Given the description of an element on the screen output the (x, y) to click on. 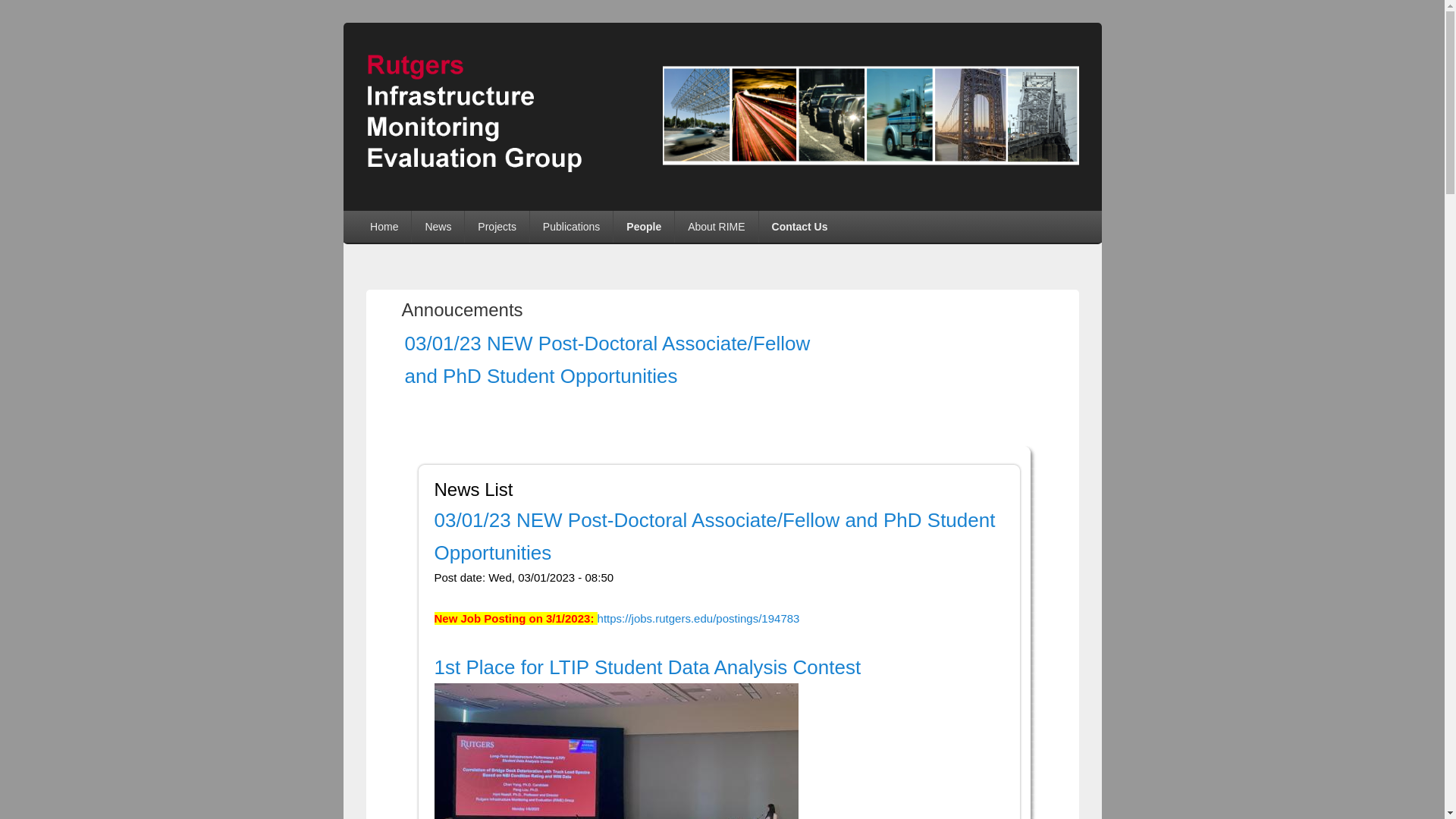
Main page (383, 226)
1st Place for LTIP Student Data Analysis Contest (646, 667)
Projects (496, 226)
Home (721, 172)
About RIME (716, 226)
People (643, 226)
News (438, 226)
Home (383, 226)
Publications (570, 226)
Projects (496, 226)
Contact Us (799, 226)
